Given the description of an element on the screen output the (x, y) to click on. 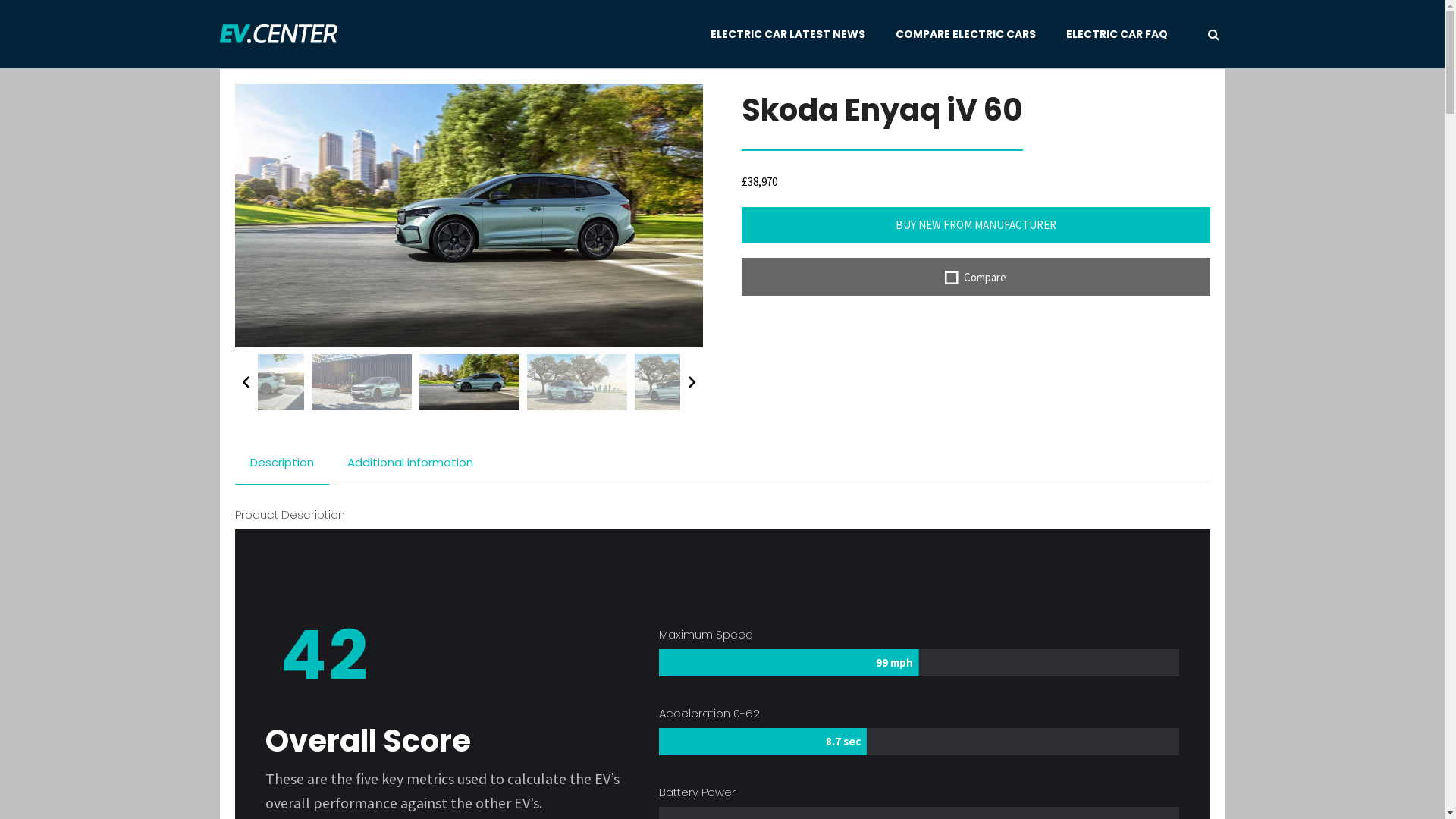
Additional information Element type: text (410, 462)
Description Element type: text (281, 462)
ELECTRIC CAR LATEST NEWS Element type: text (787, 34)
ELECTRIC CAR FAQ Element type: text (1116, 34)
COMPARE ELECTRIC CARS Element type: text (965, 34)
BUY NEW FROM MANUFACTURER Element type: text (975, 224)
Compare Element type: text (975, 276)
